Given the description of an element on the screen output the (x, y) to click on. 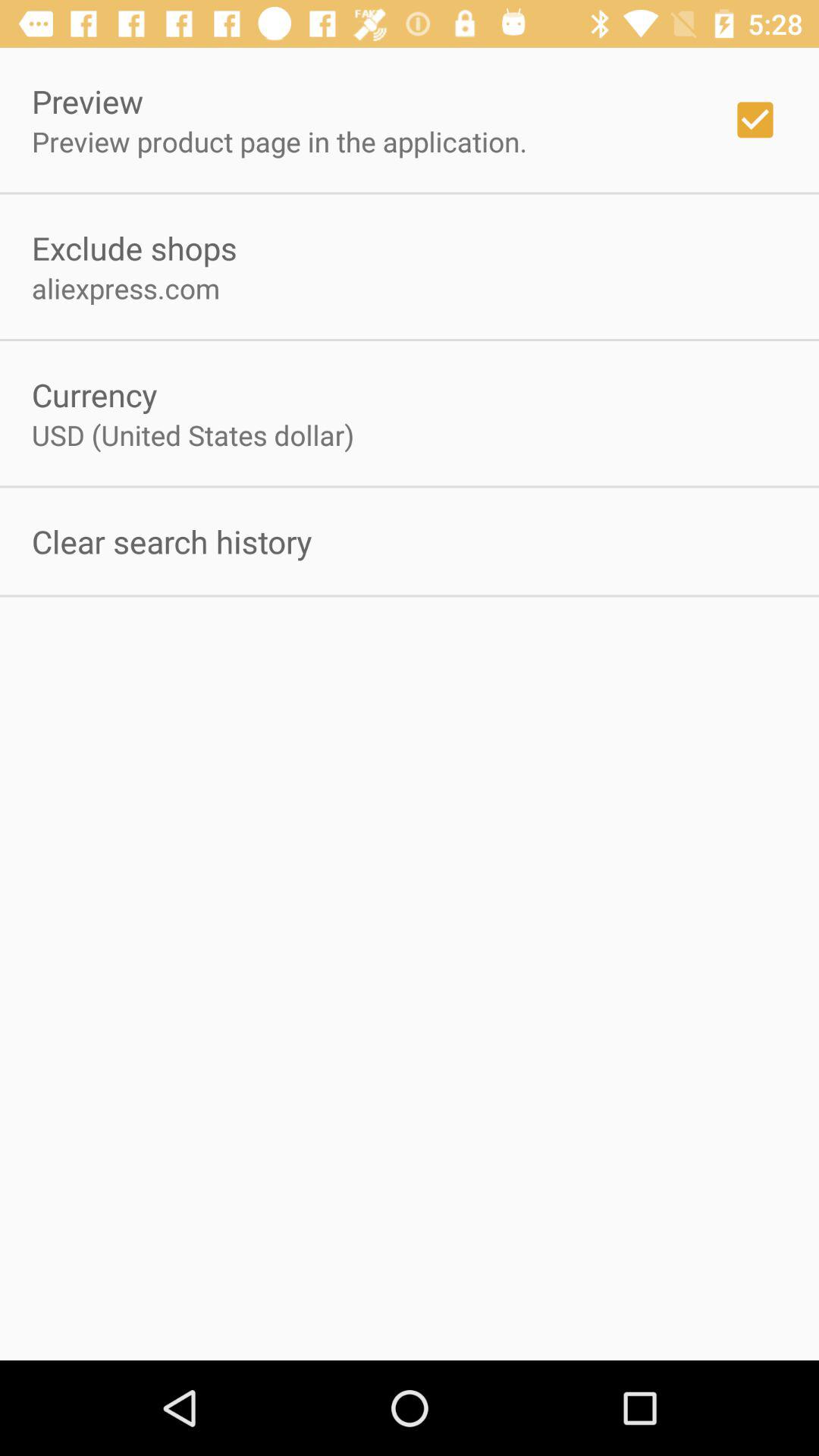
choose the icon to the right of preview product page (755, 119)
